Given the description of an element on the screen output the (x, y) to click on. 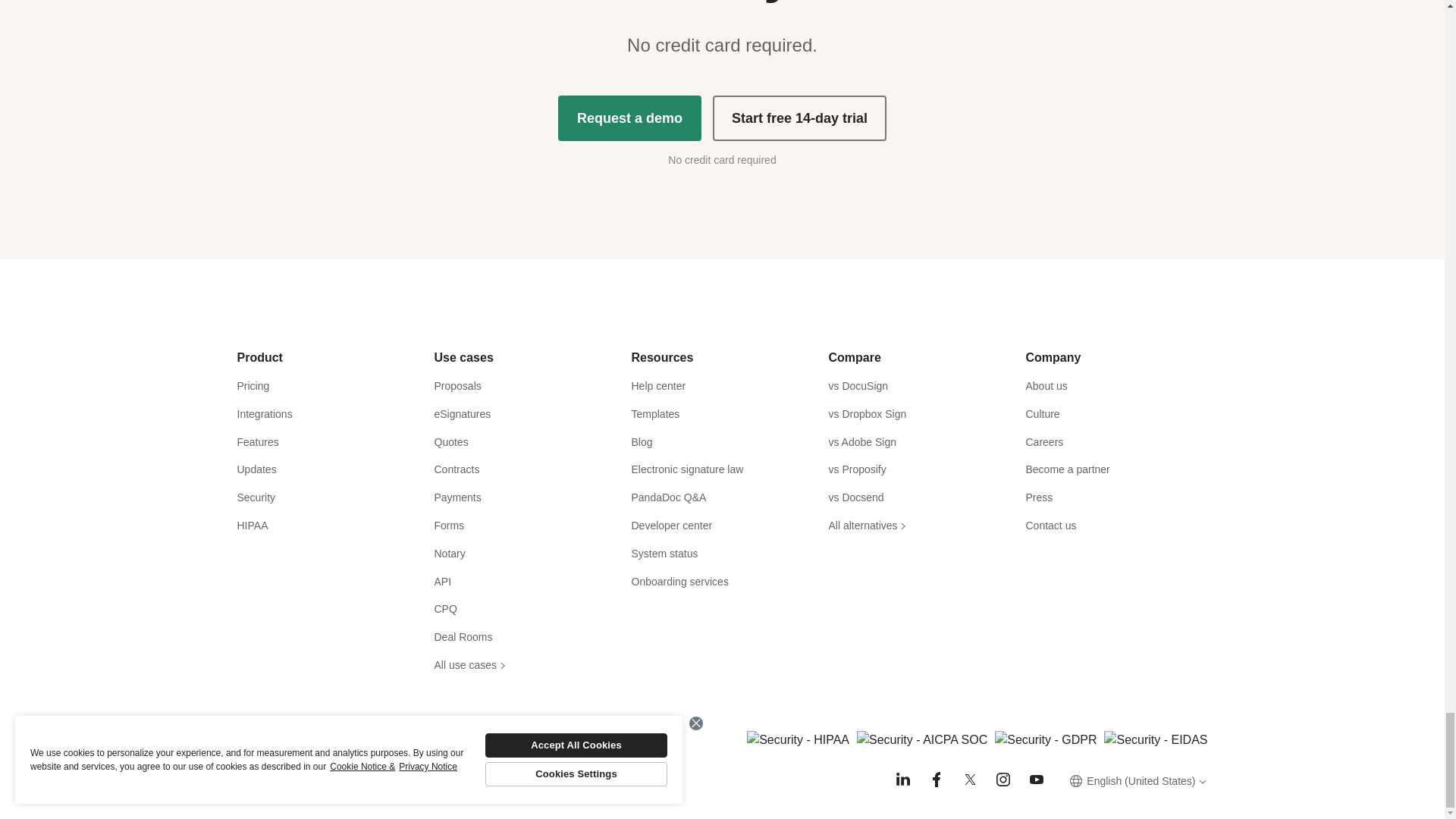
Youtube (1036, 779)
LinkedIn (902, 779)
Facebook (935, 779)
Instagram (1002, 779)
Twitter (969, 779)
